Given the description of an element on the screen output the (x, y) to click on. 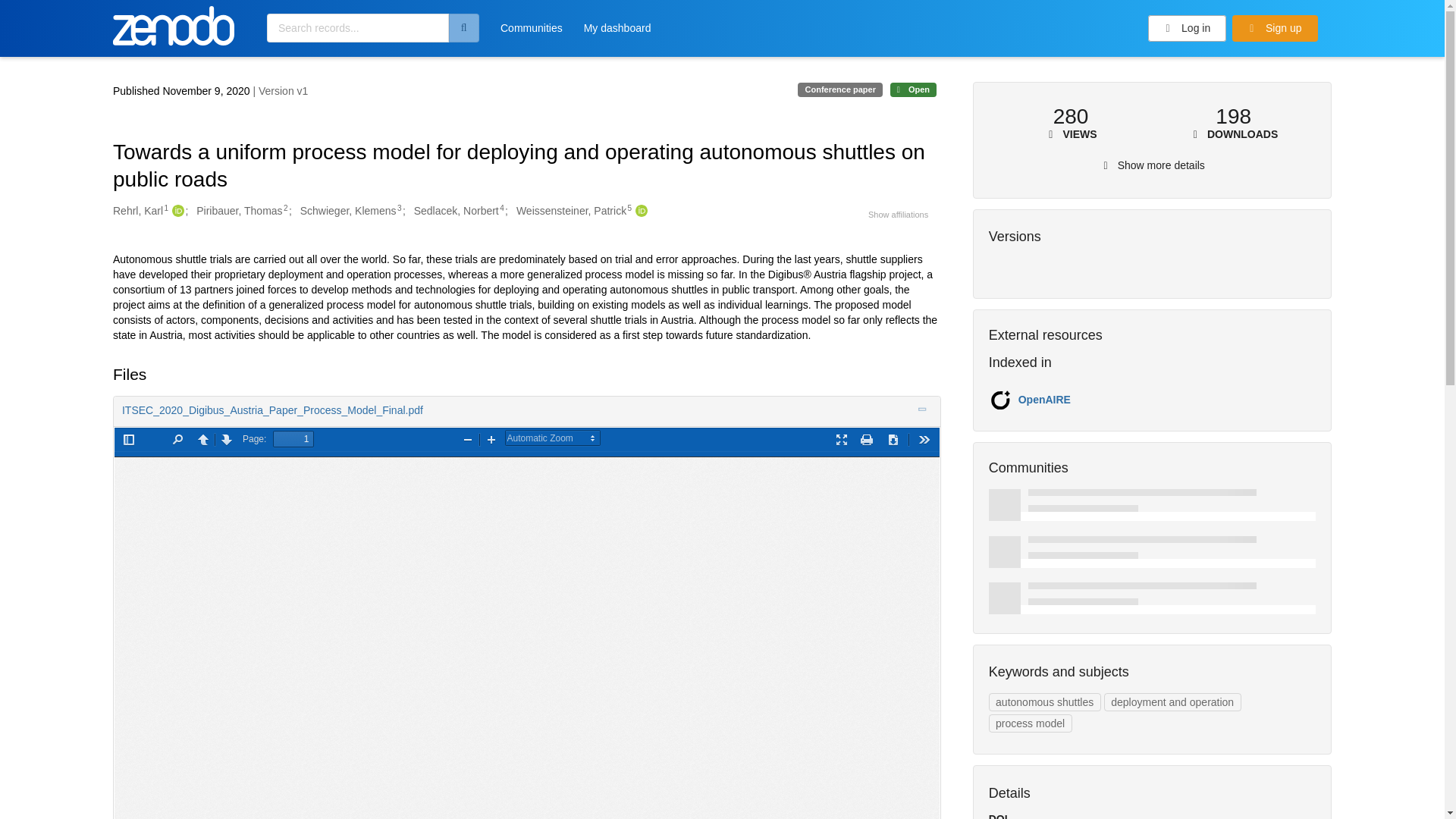
Rehrl, Karl's ORCID profile (176, 211)
Weissensteiner, Patrick5 (573, 211)
Search results for deployment and operation (1172, 701)
Show affiliations (898, 214)
OpenAIRE (1043, 399)
Sign up (1274, 28)
Search results for autonomous shuttles (1044, 701)
Communities (531, 32)
Search results for process model (1029, 723)
Sedlacek, Norbert4 (458, 211)
